Given the description of an element on the screen output the (x, y) to click on. 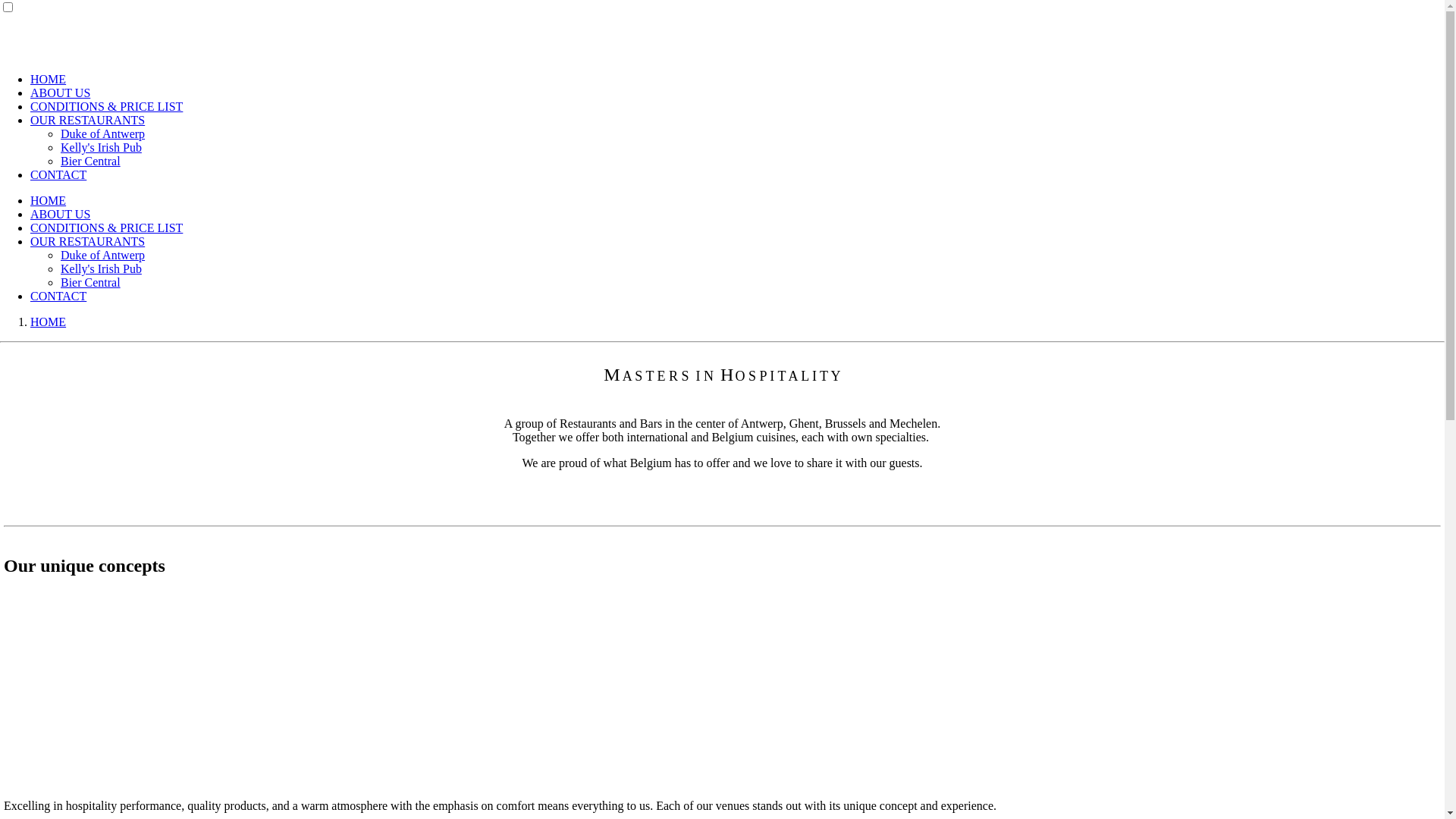
Kelly's Irish Pub Element type: text (100, 268)
HOME Element type: text (47, 78)
HOME Element type: text (47, 200)
CONTACT Element type: text (58, 295)
Bier Central Element type: text (90, 282)
ABOUT US Element type: text (60, 92)
ABOUT US Element type: text (60, 213)
Duke of Antwerp Element type: text (102, 254)
OUR RESTAURANTS Element type: text (87, 119)
Kelly's Irish Pub Element type: text (100, 147)
Bier Central Element type: text (90, 160)
HOME Element type: text (47, 321)
CONDITIONS & PRICE LIST Element type: text (106, 106)
OUR RESTAURANTS Element type: text (87, 241)
CONTACT Element type: text (58, 174)
CONDITIONS & PRICE LIST Element type: text (106, 227)
Duke of Antwerp Element type: text (102, 133)
